Given the description of an element on the screen output the (x, y) to click on. 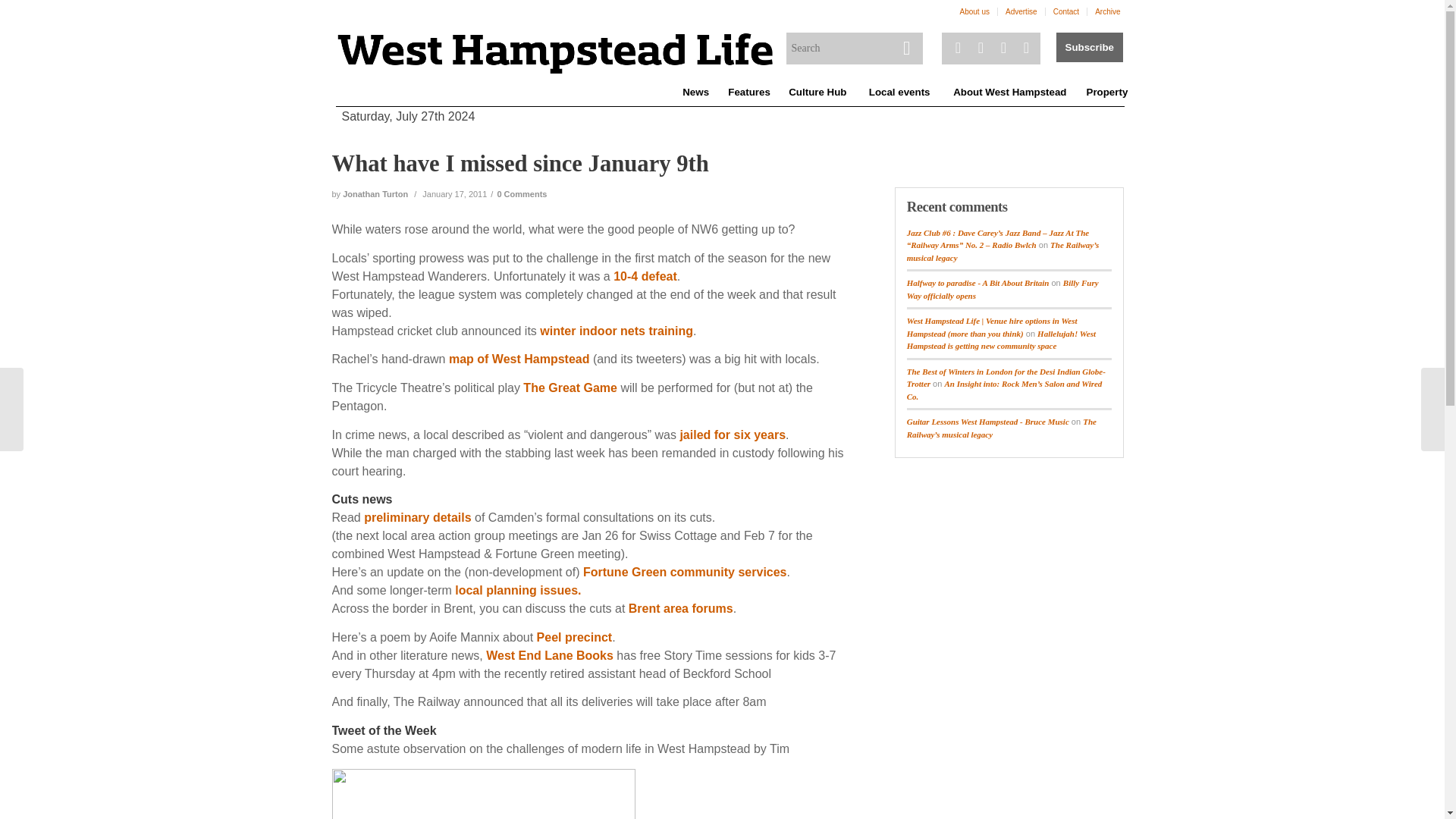
Subscribe (1088, 47)
News (694, 92)
Property (1105, 92)
Local events (898, 92)
Permanent Link: What have I missed since January 9th (520, 163)
Advertise (1021, 11)
About West Hampstead (1008, 92)
About us (974, 11)
Archive (1106, 11)
Posts by Jonathan Turton (374, 194)
Culture Hub (817, 92)
Features (747, 92)
Contact (1065, 11)
